Given the description of an element on the screen output the (x, y) to click on. 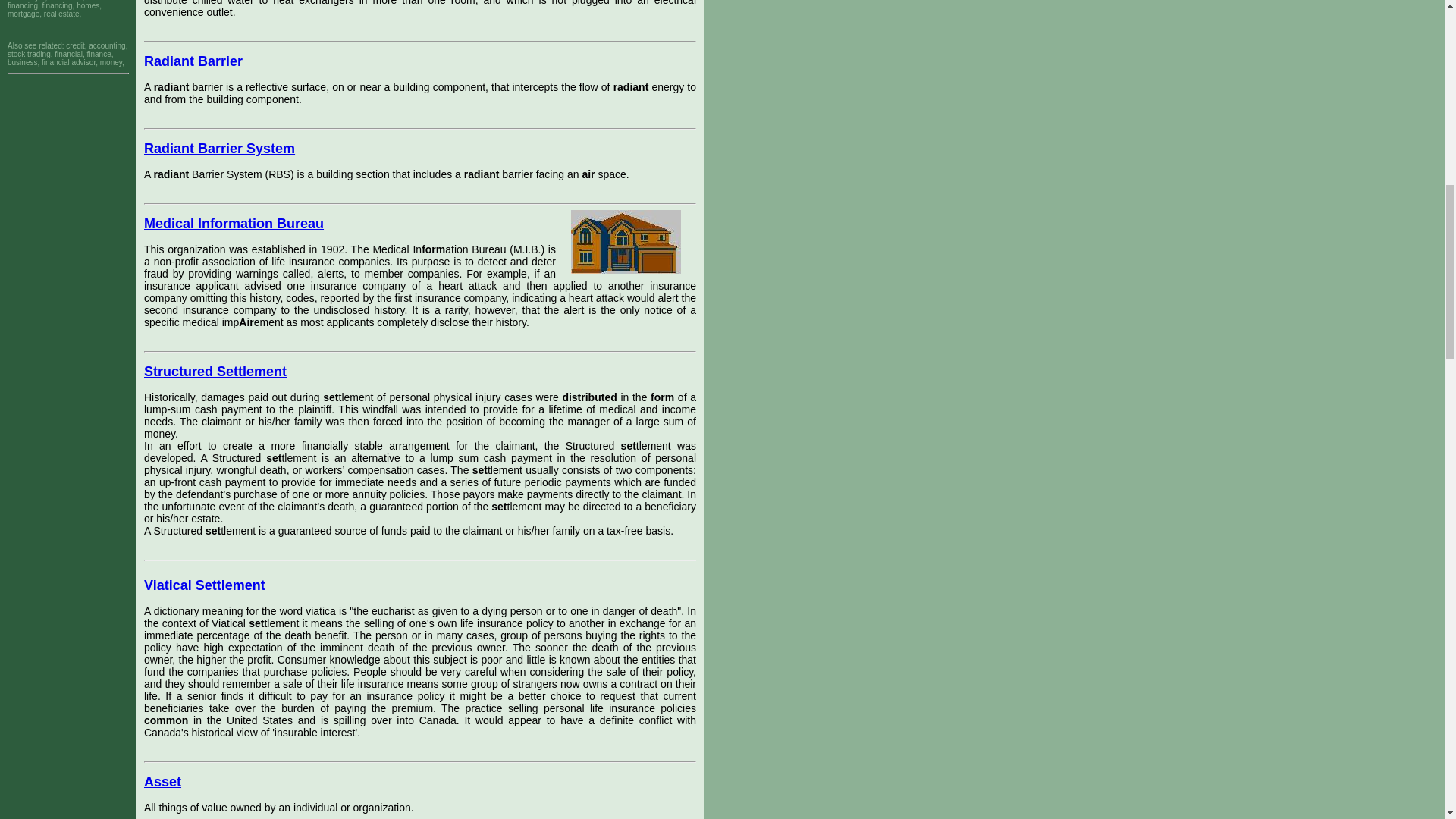
Radiant Barrier (193, 61)
Viatical Settlement (204, 585)
Medical Information Bureau (233, 223)
Advertisement (68, 114)
Asset (162, 781)
Radiant Barrier System (219, 148)
Structured Settlement (215, 371)
